Given the description of an element on the screen output the (x, y) to click on. 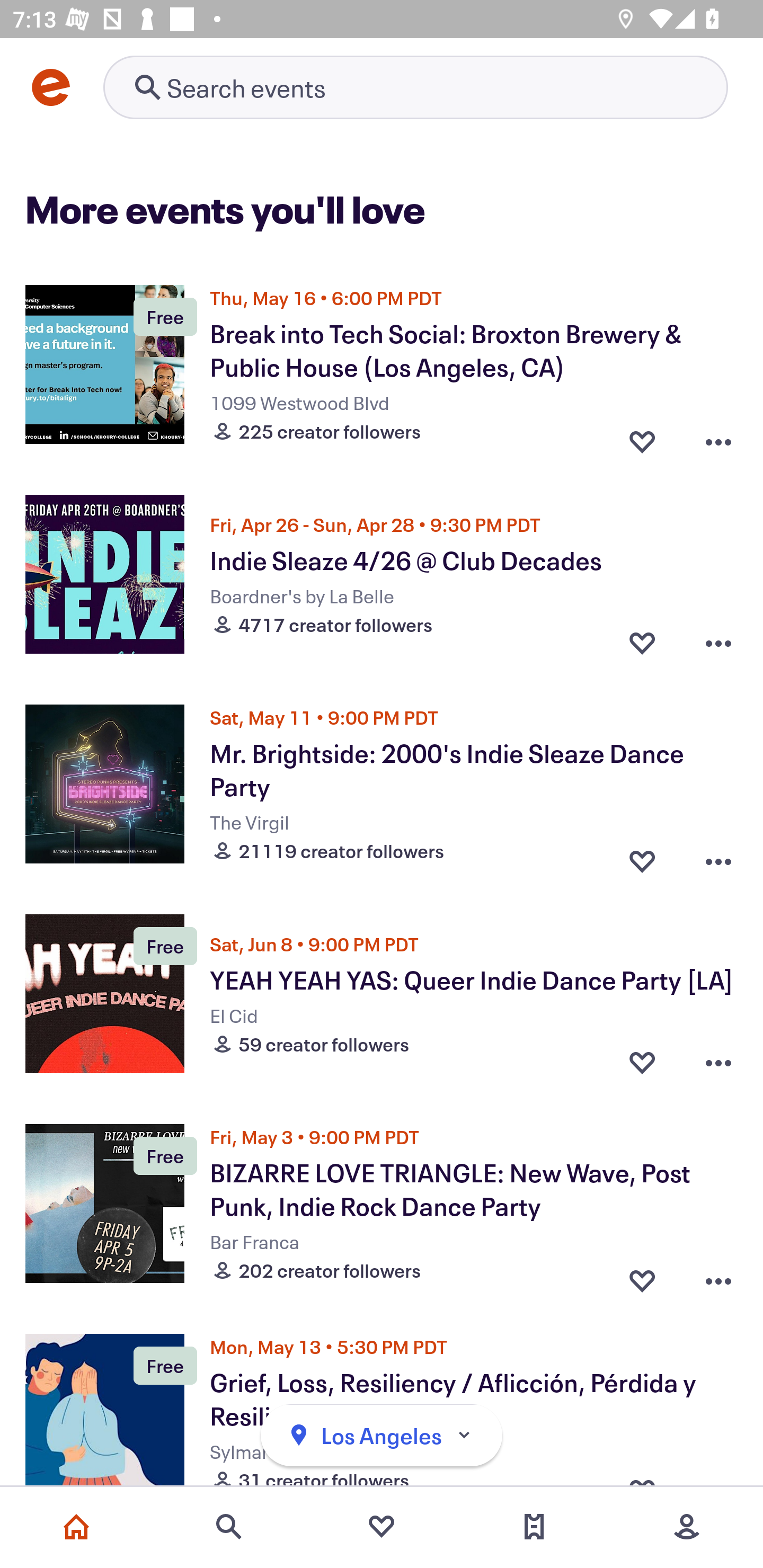
Retry's image Search events (415, 86)
Favorite button (642, 436)
Overflow menu button (718, 436)
Favorite button (642, 641)
Overflow menu button (718, 641)
Favorite button (642, 856)
Overflow menu button (718, 856)
Favorite button (642, 1062)
Overflow menu button (718, 1062)
Favorite button (642, 1275)
Overflow menu button (718, 1275)
Los Angeles (381, 1435)
Home (76, 1526)
Search events (228, 1526)
Favorites (381, 1526)
Tickets (533, 1526)
More (686, 1526)
